Given the description of an element on the screen output the (x, y) to click on. 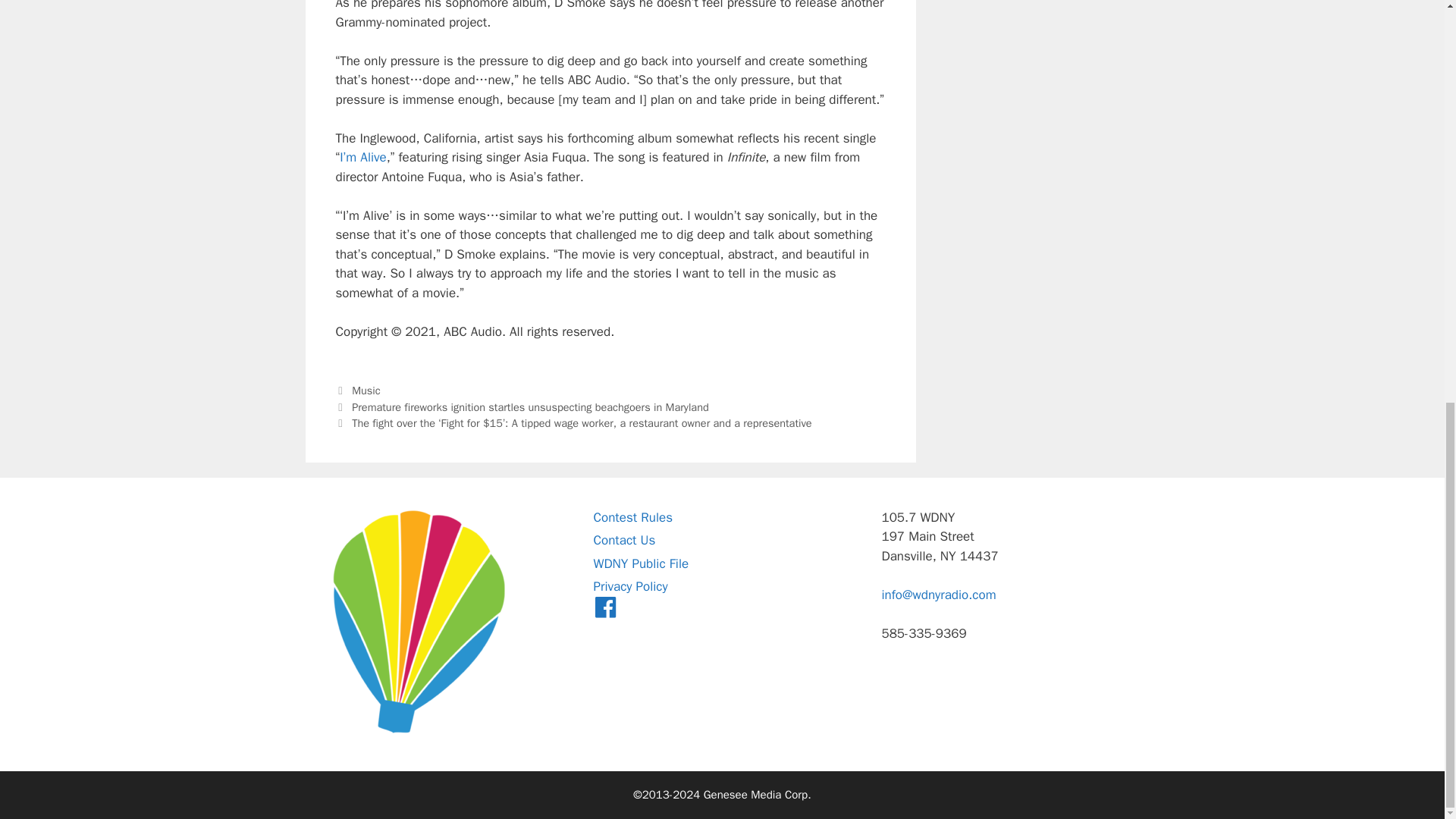
Menu Item (605, 609)
Contact Us (623, 539)
WDNY Public File (640, 563)
Privacy Policy (629, 586)
Music (366, 390)
Contest Rules (632, 517)
